Given the description of an element on the screen output the (x, y) to click on. 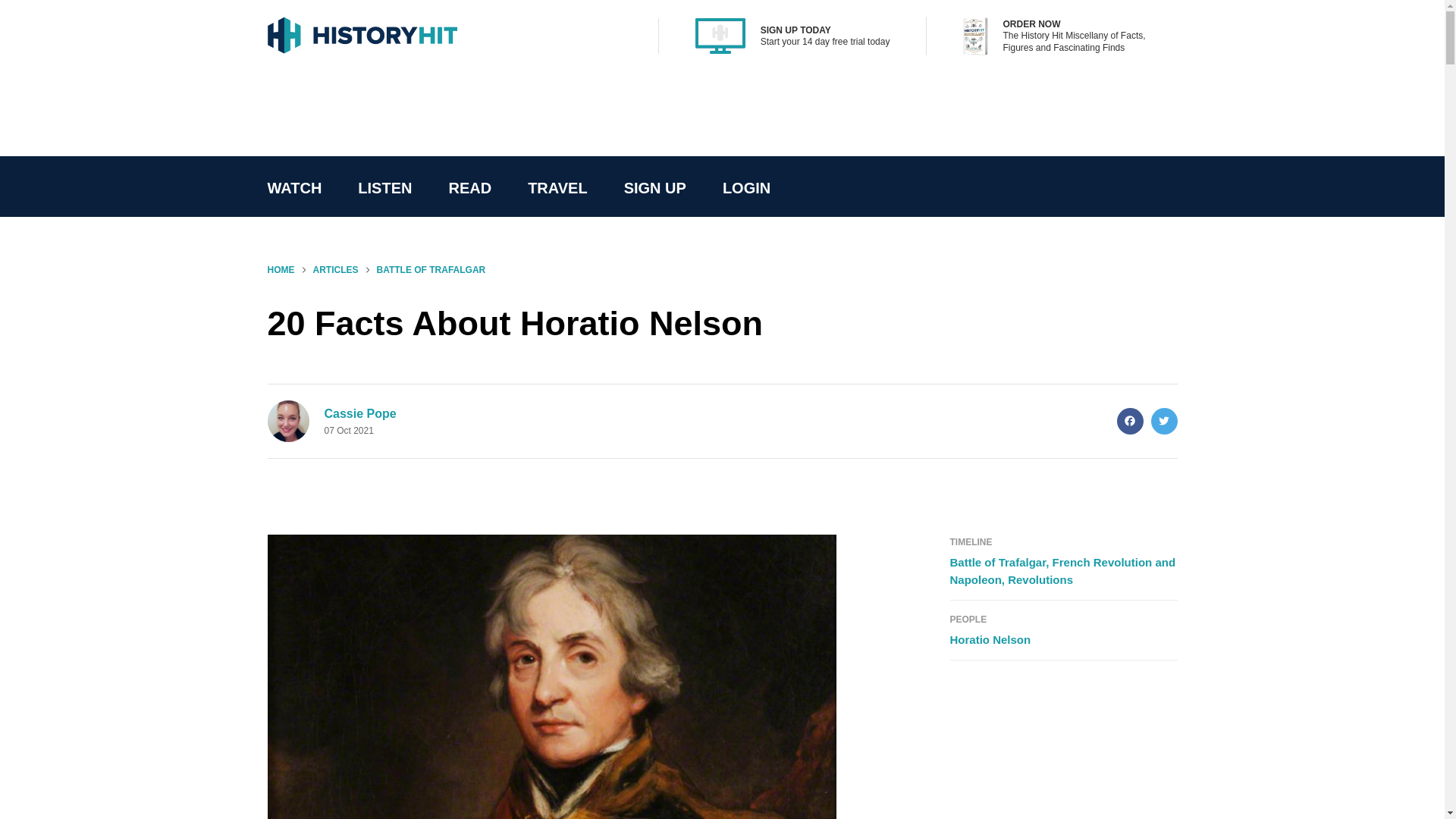
Start your 14 day free trial today (824, 41)
SIGN UP TODAY (795, 30)
WATCH (293, 187)
LISTEN (384, 187)
READ (469, 187)
ORDER NOW (1031, 23)
